Given the description of an element on the screen output the (x, y) to click on. 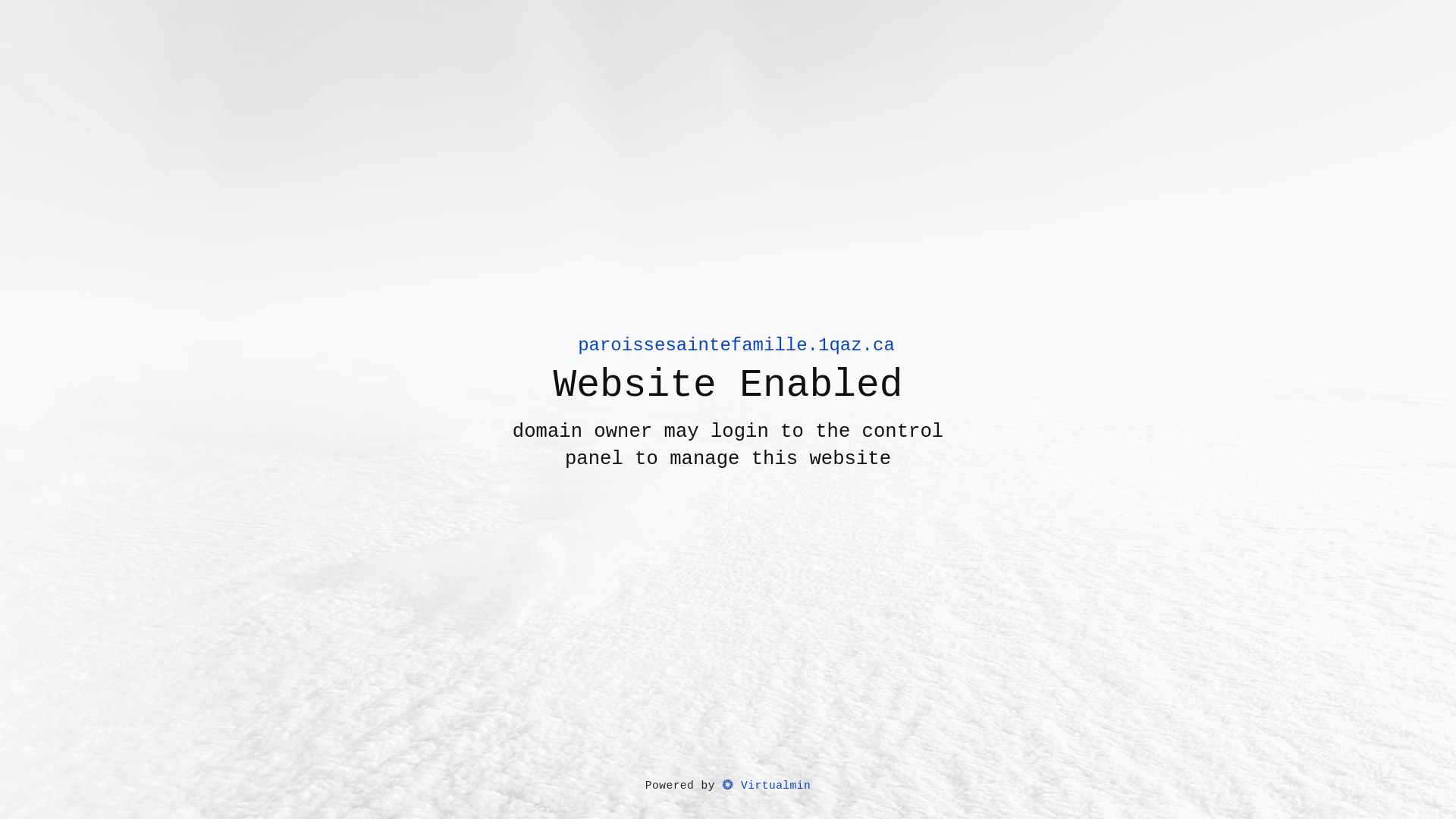
 Virtualmin Element type: text (765, 786)
